Given the description of an element on the screen output the (x, y) to click on. 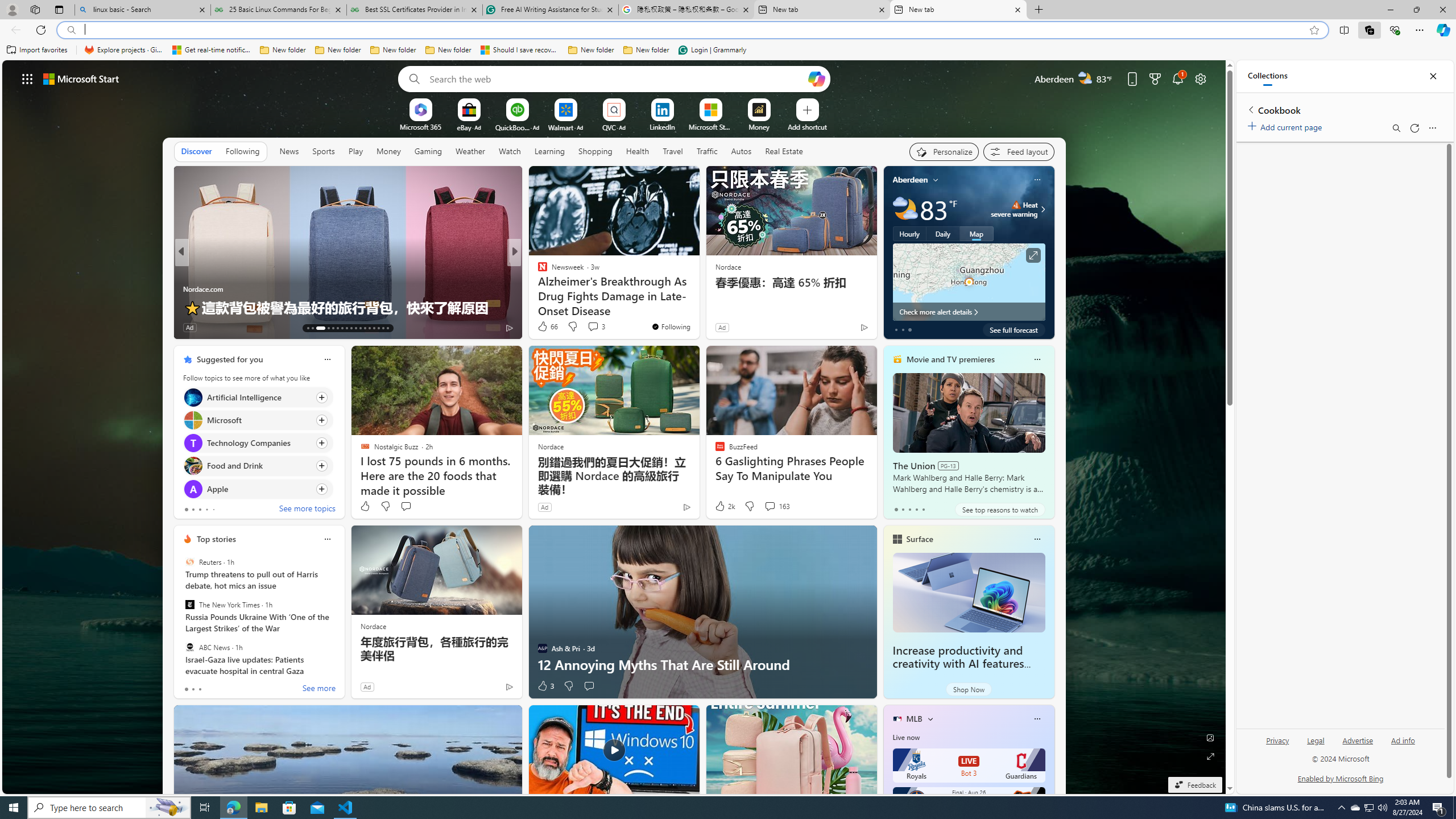
AutomationID: tab-26 (374, 328)
Travel (672, 151)
Enter your search term (617, 78)
Page settings (1200, 78)
Aberdeen (910, 179)
Traffic (706, 151)
Learning (549, 151)
The New York Times (189, 604)
AutomationID: tab-19 (342, 328)
View comments 163 Comment (770, 505)
Gaming (428, 151)
